Given the description of an element on the screen output the (x, y) to click on. 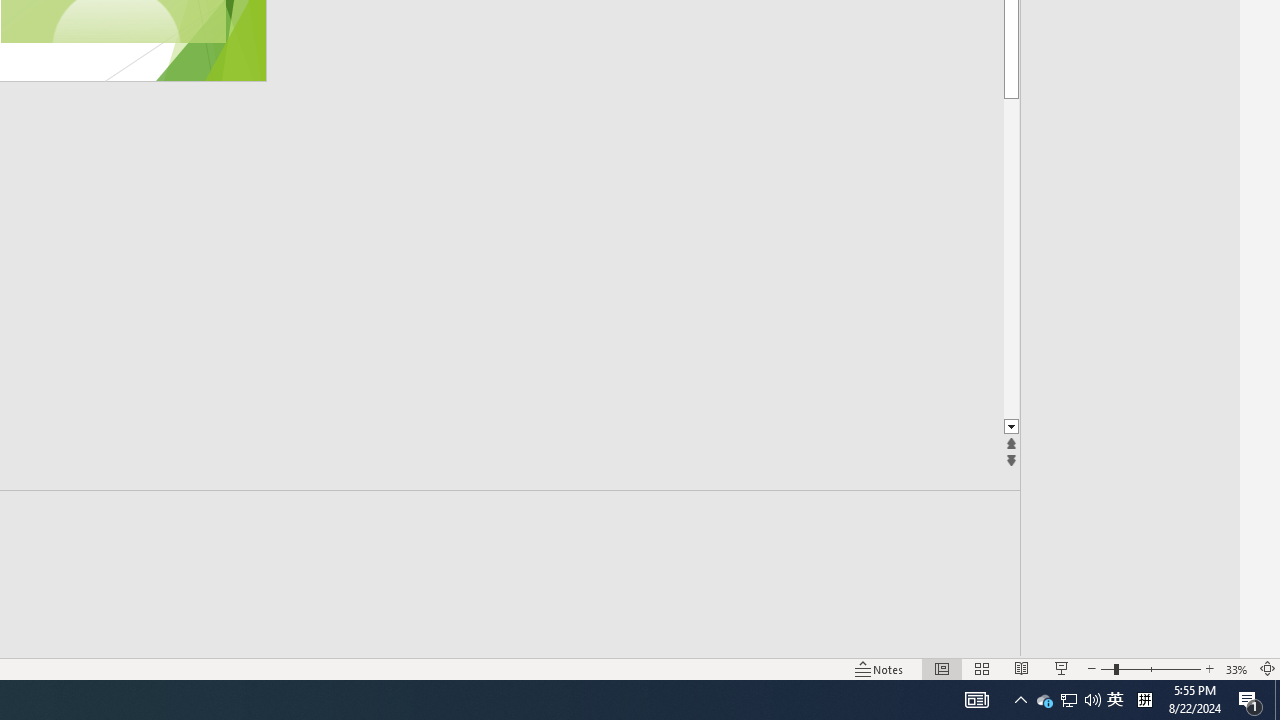
Zoom 33% (1236, 668)
